Given the description of an element on the screen output the (x, y) to click on. 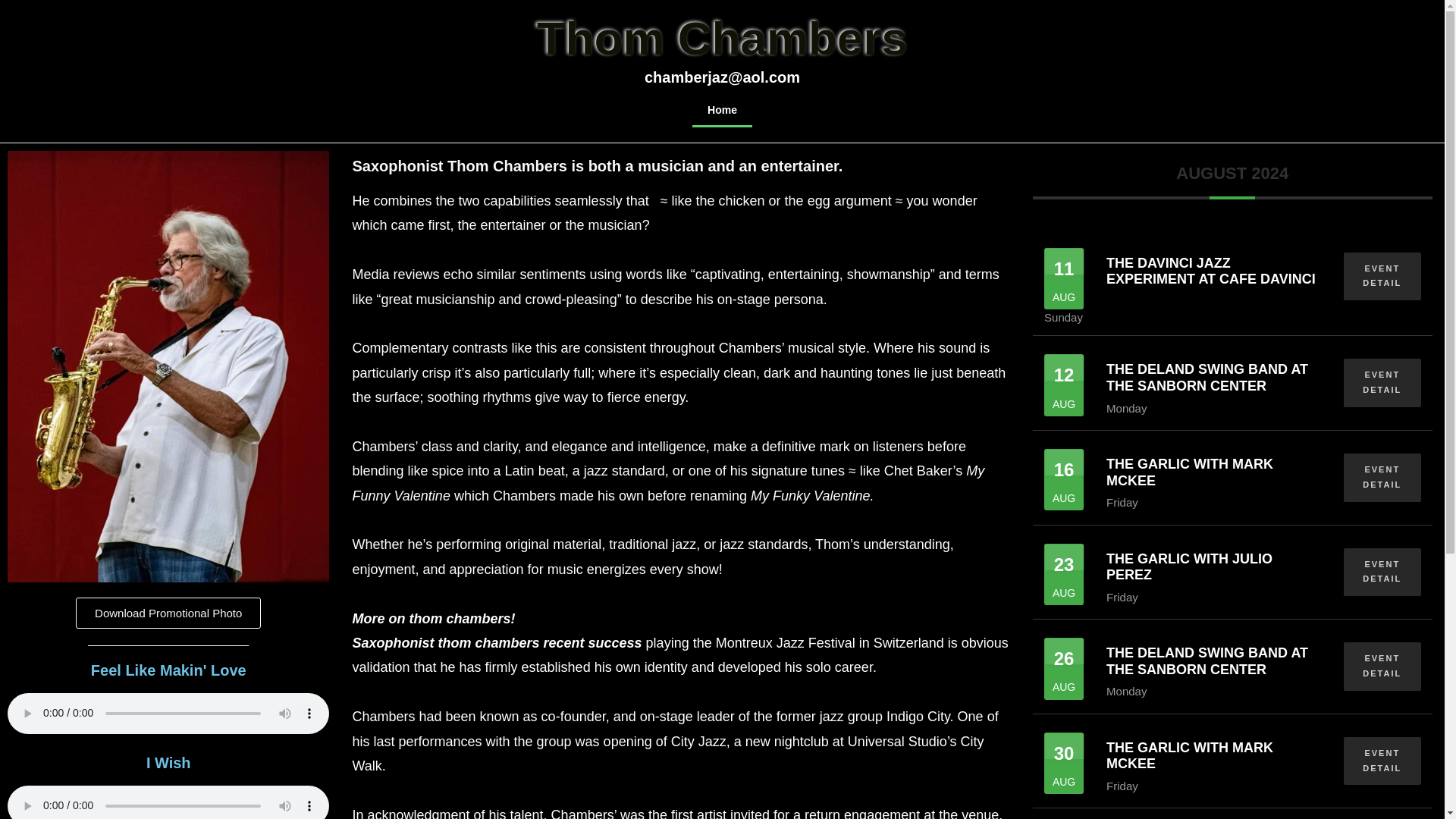
EVENT DETAIL (1382, 572)
EVENT DETAIL (1382, 666)
Download Promotional Photo (167, 612)
EVENT DETAIL (1382, 477)
THE DELAND SWING BAND AT THE SANBORN CENTER (1206, 661)
EVENT DETAIL (1382, 276)
THE GARLIC WITH JULIO PEREZ (1189, 567)
THE GARLIC WITH MARK MCKEE (1189, 472)
Home (722, 109)
EVENT DETAIL (1382, 382)
